Given the description of an element on the screen output the (x, y) to click on. 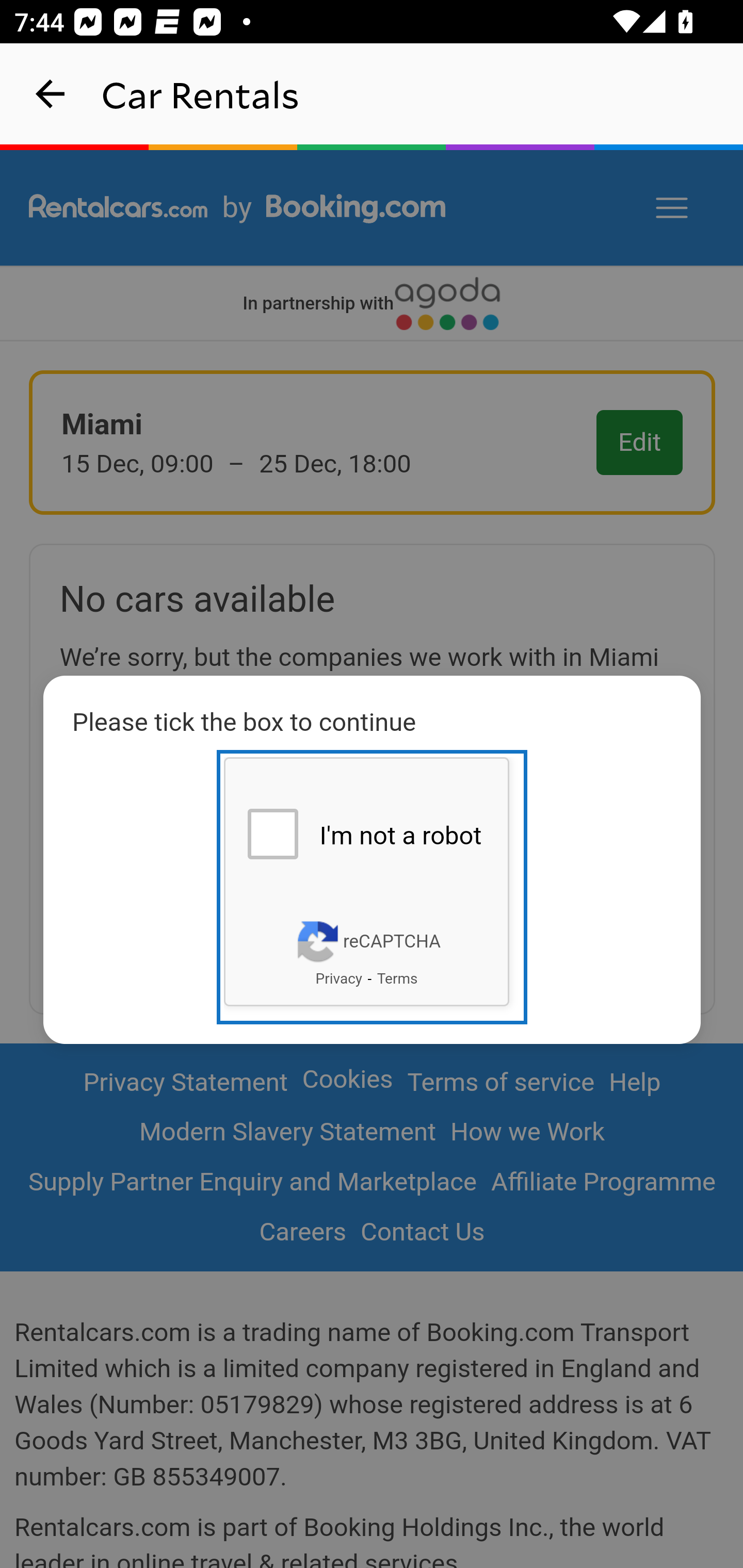
navigation_button (50, 93)
I'm not a robot (272, 833)
Privacy (338, 977)
Terms (396, 977)
